Given the description of an element on the screen output the (x, y) to click on. 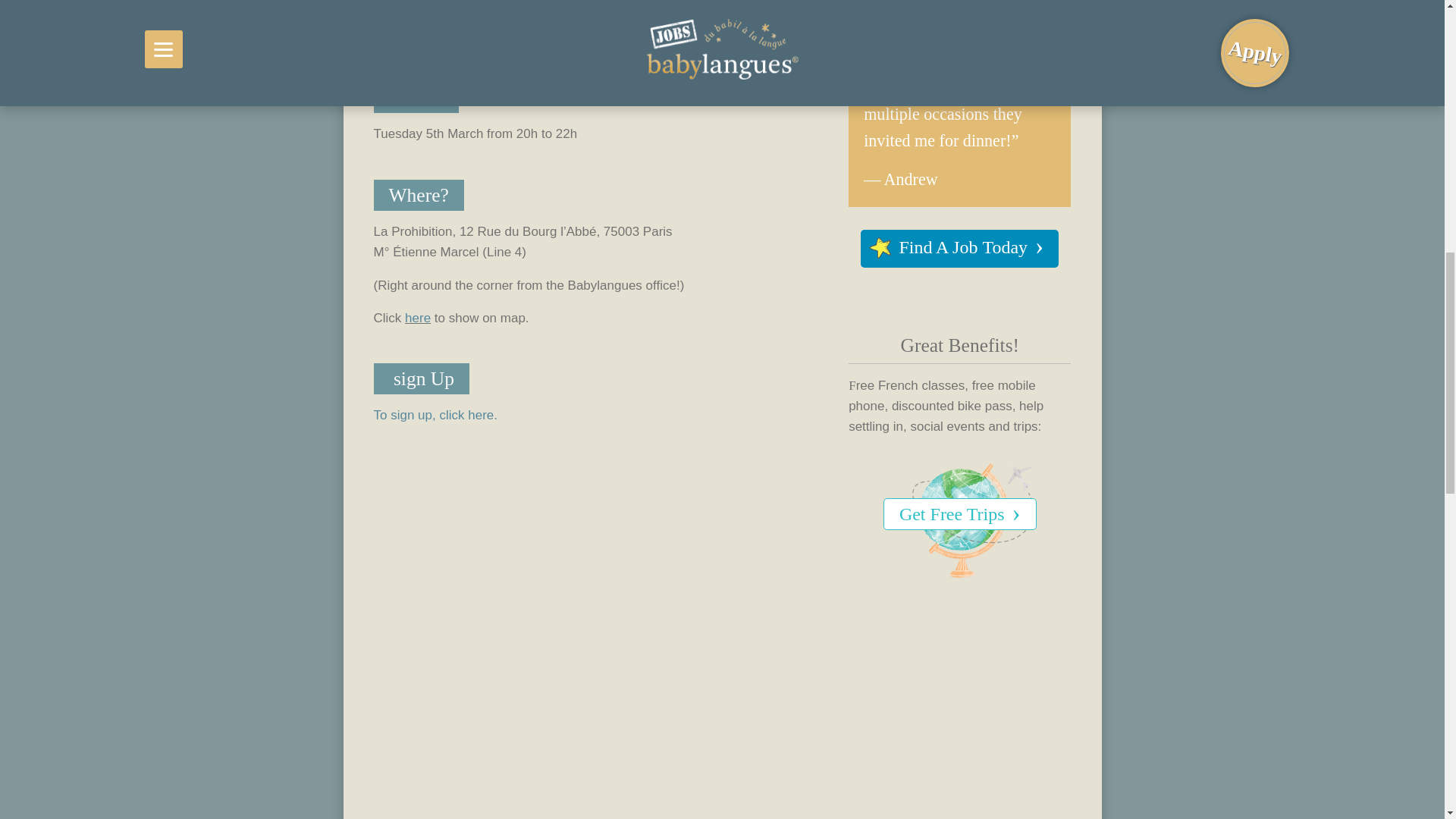
here (417, 318)
